Given the description of an element on the screen output the (x, y) to click on. 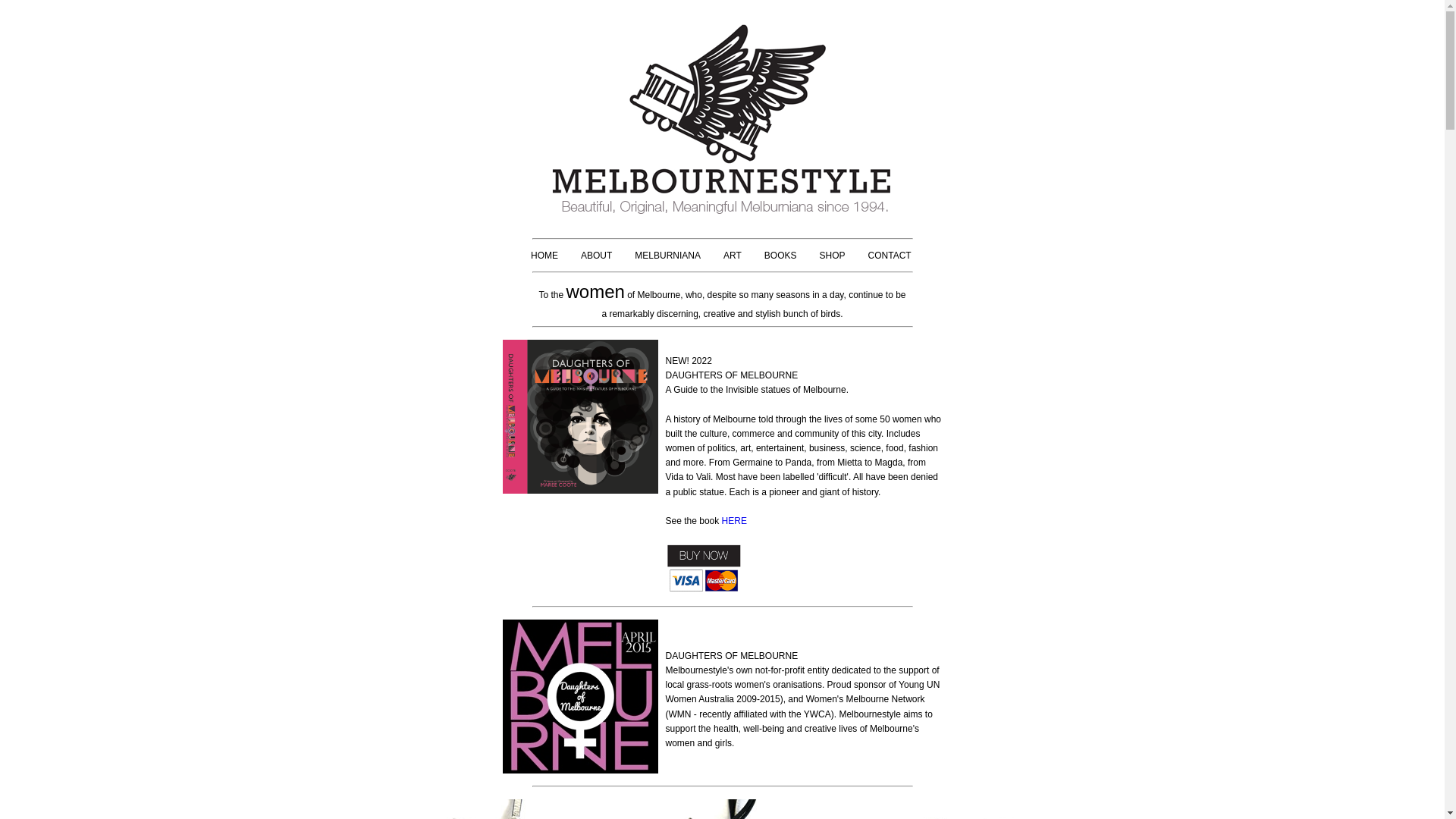
ABOUT Element type: text (596, 255)
CONTACT Element type: text (889, 255)
HERE Element type: text (733, 520)
HOME Element type: text (544, 255)
MELBURNIANA Element type: text (667, 255)
SHOP Element type: text (832, 255)
BOOKS Element type: text (780, 255)
ART Element type: text (732, 255)
